Given the description of an element on the screen output the (x, y) to click on. 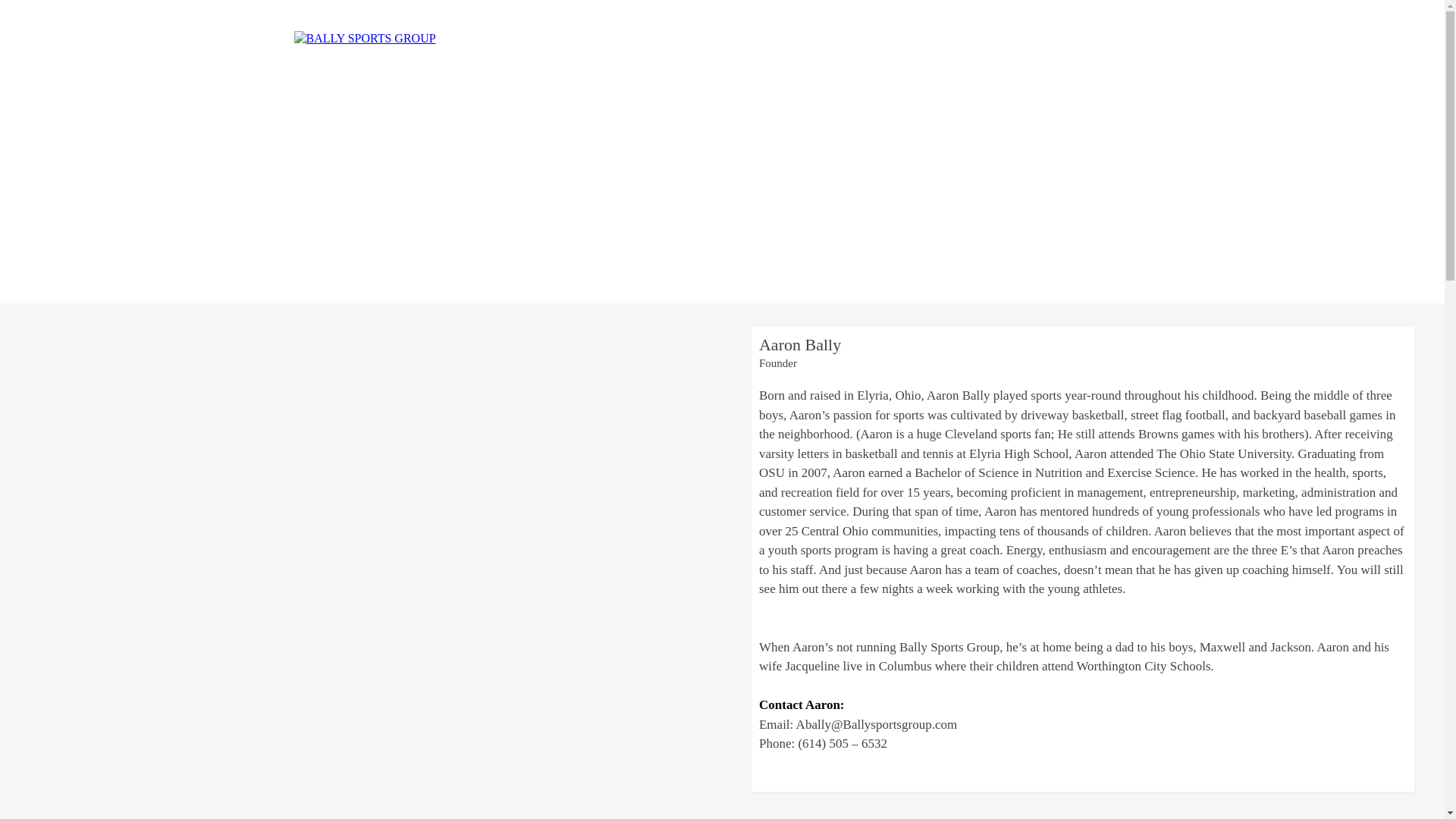
ABOUT (724, 38)
OUR PROGRAMS (802, 38)
CONTACT US (1104, 38)
PARENT INFORMATION (993, 38)
REGISTER (889, 38)
